Given the description of an element on the screen output the (x, y) to click on. 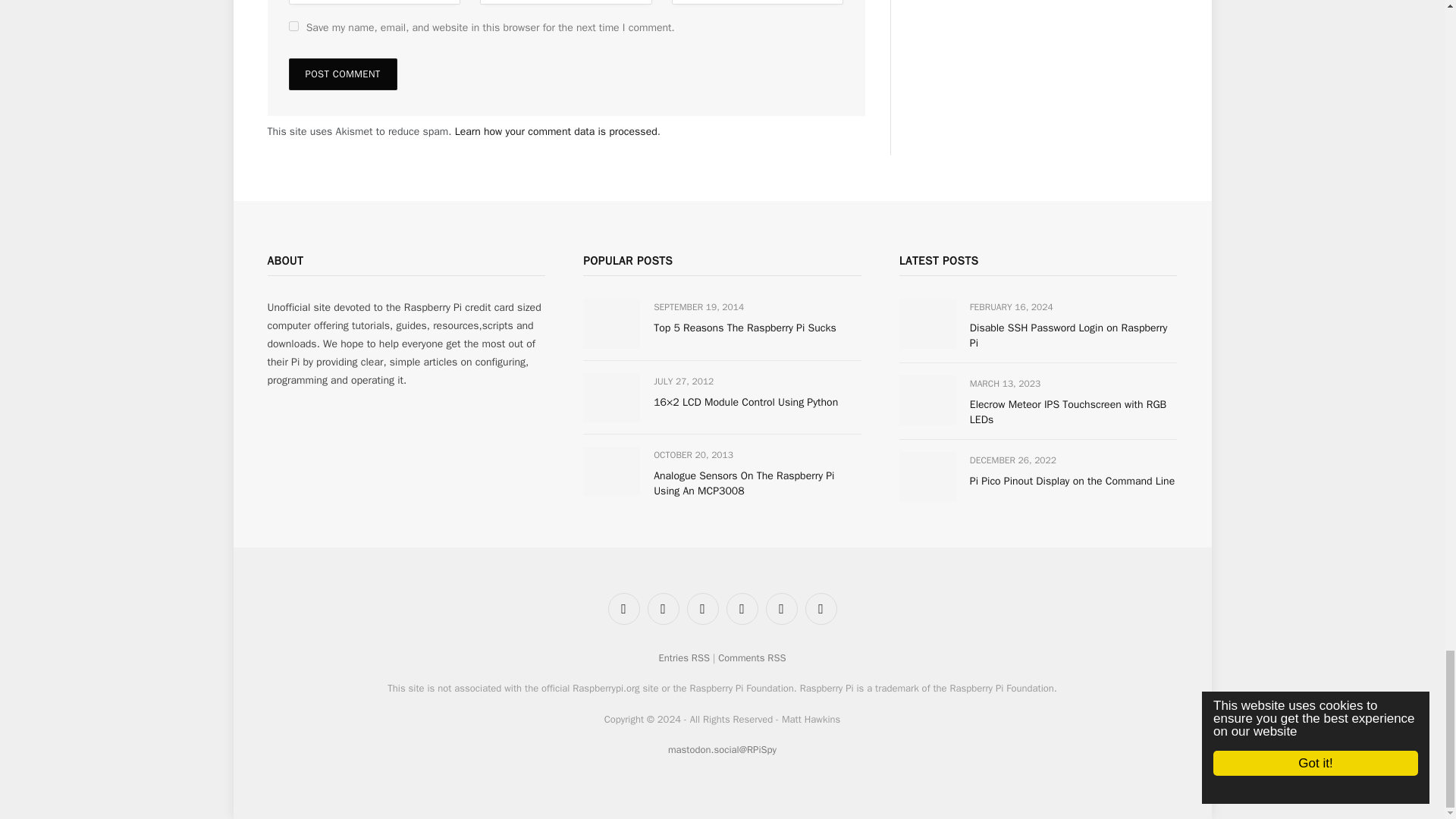
yes (293, 26)
Post Comment (342, 74)
